Given the description of an element on the screen output the (x, y) to click on. 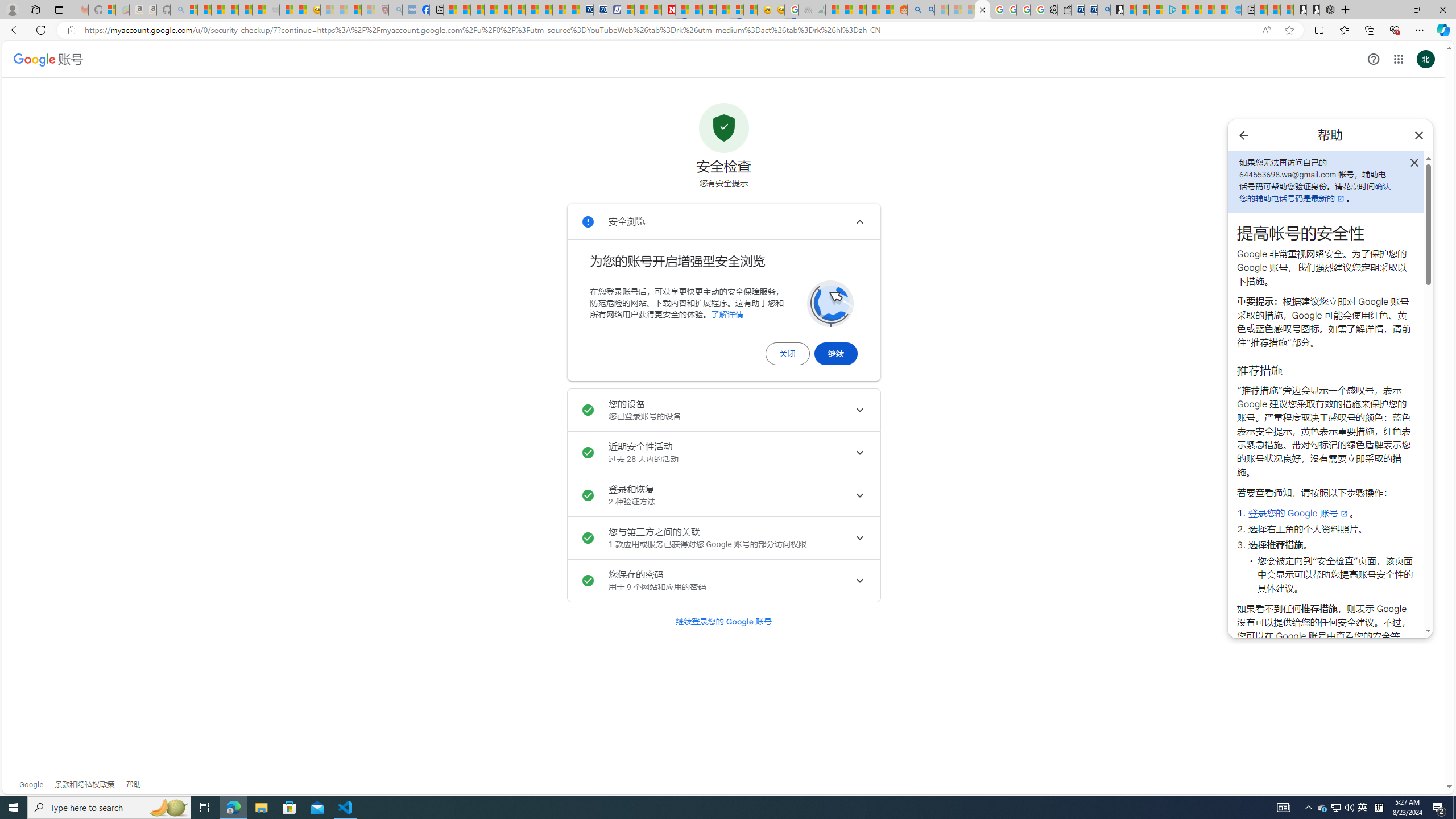
Student Loan Update: Forgiveness Program Ends This Month (873, 9)
